Given the description of an element on the screen output the (x, y) to click on. 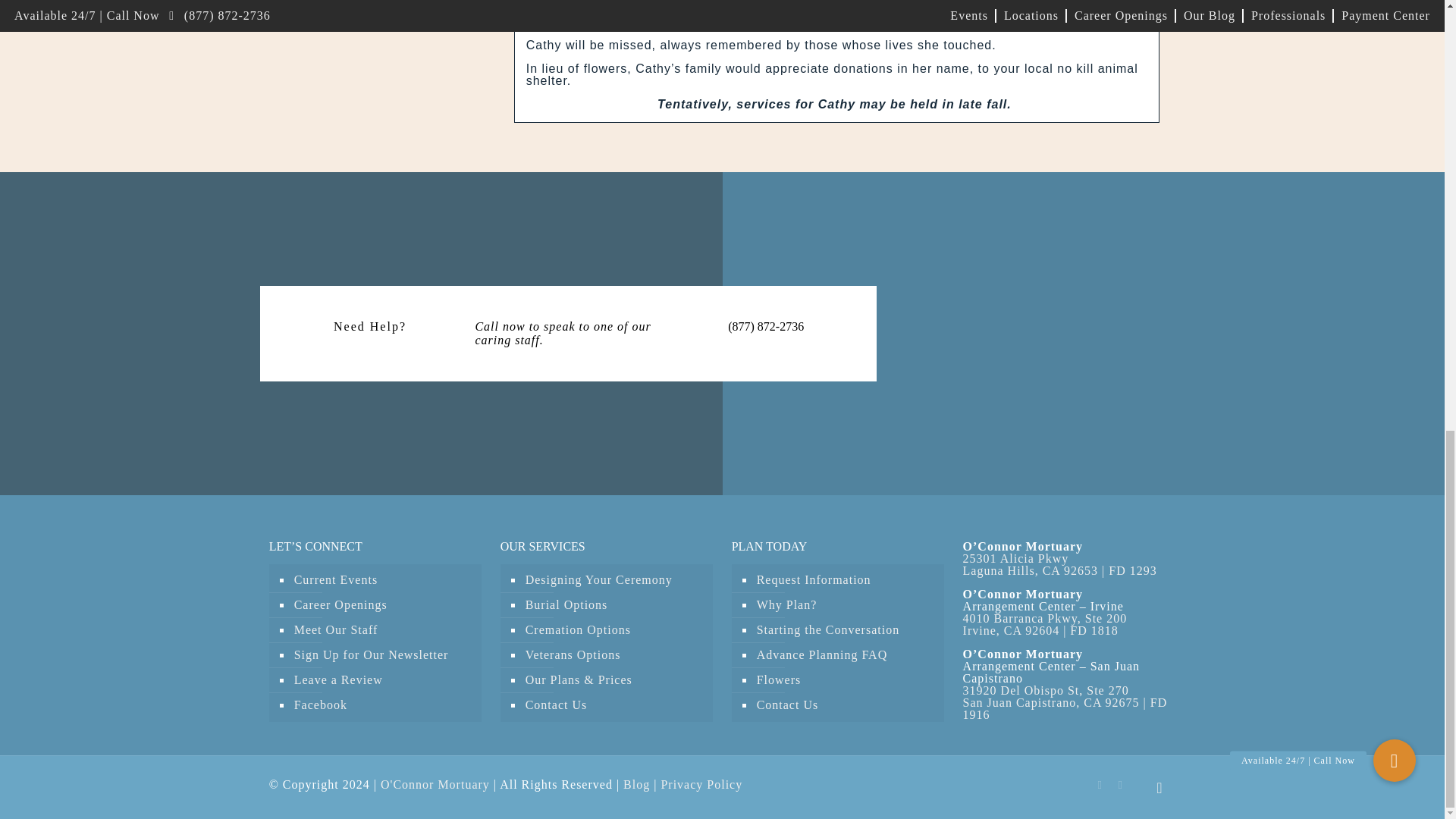
Instagram (1120, 784)
Facebook (1100, 784)
